Given the description of an element on the screen output the (x, y) to click on. 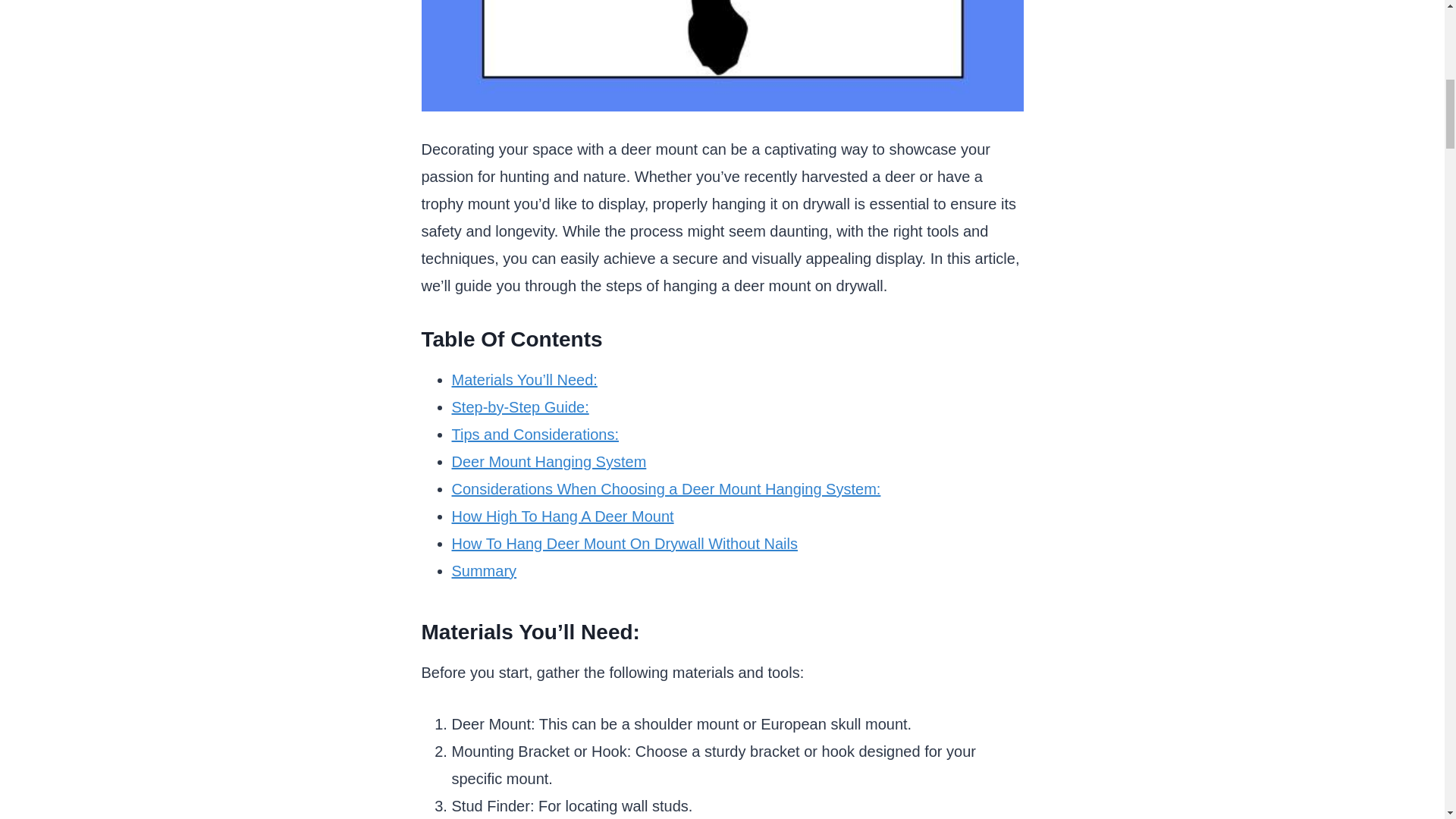
Step-by-Step Guide: (520, 406)
Deer Mount Hanging System (548, 461)
Summary (483, 570)
How To Hang Deer Mount On Drywall Without Nails (624, 543)
How High To Hang A Deer Mount (562, 515)
Considerations When Choosing a Deer Mount Hanging System: (665, 488)
Tips and Considerations: (535, 434)
